Given the description of an element on the screen output the (x, y) to click on. 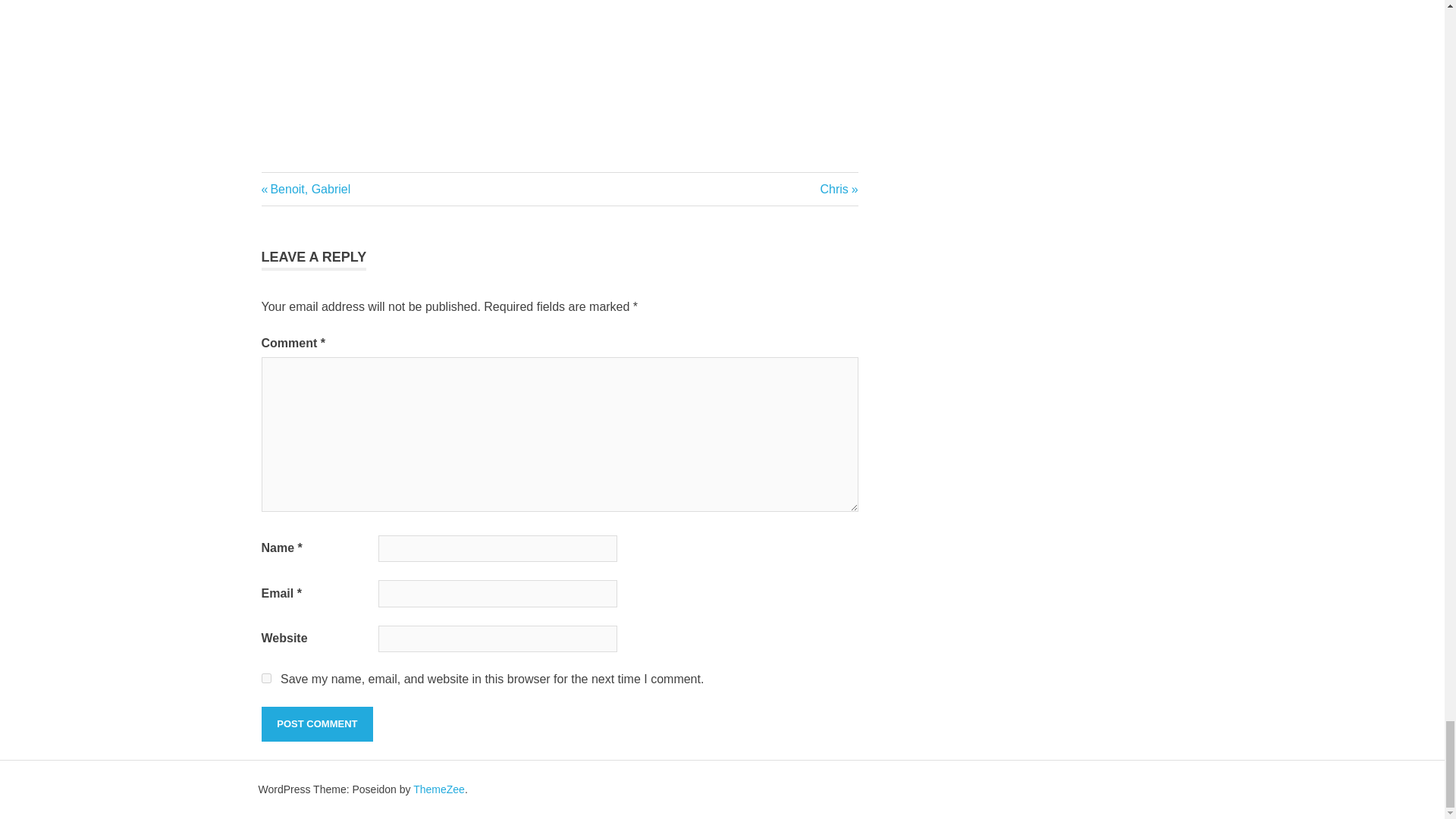
Post Comment (316, 724)
yes (265, 678)
Post Comment (305, 188)
